Given the description of an element on the screen output the (x, y) to click on. 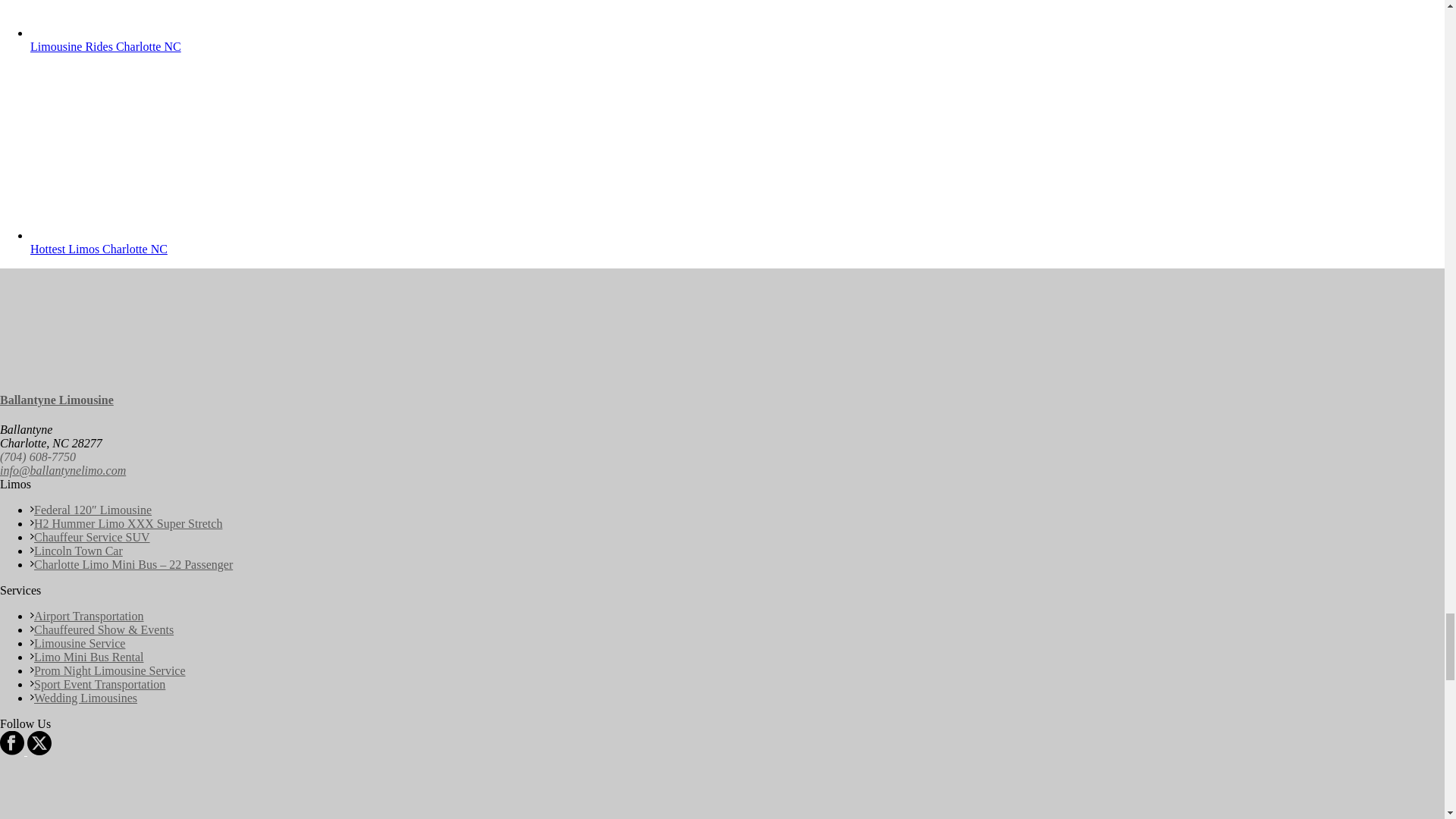
Follow Us on twitter (37, 750)
Follow Us on facebook (12, 750)
